Given the description of an element on the screen output the (x, y) to click on. 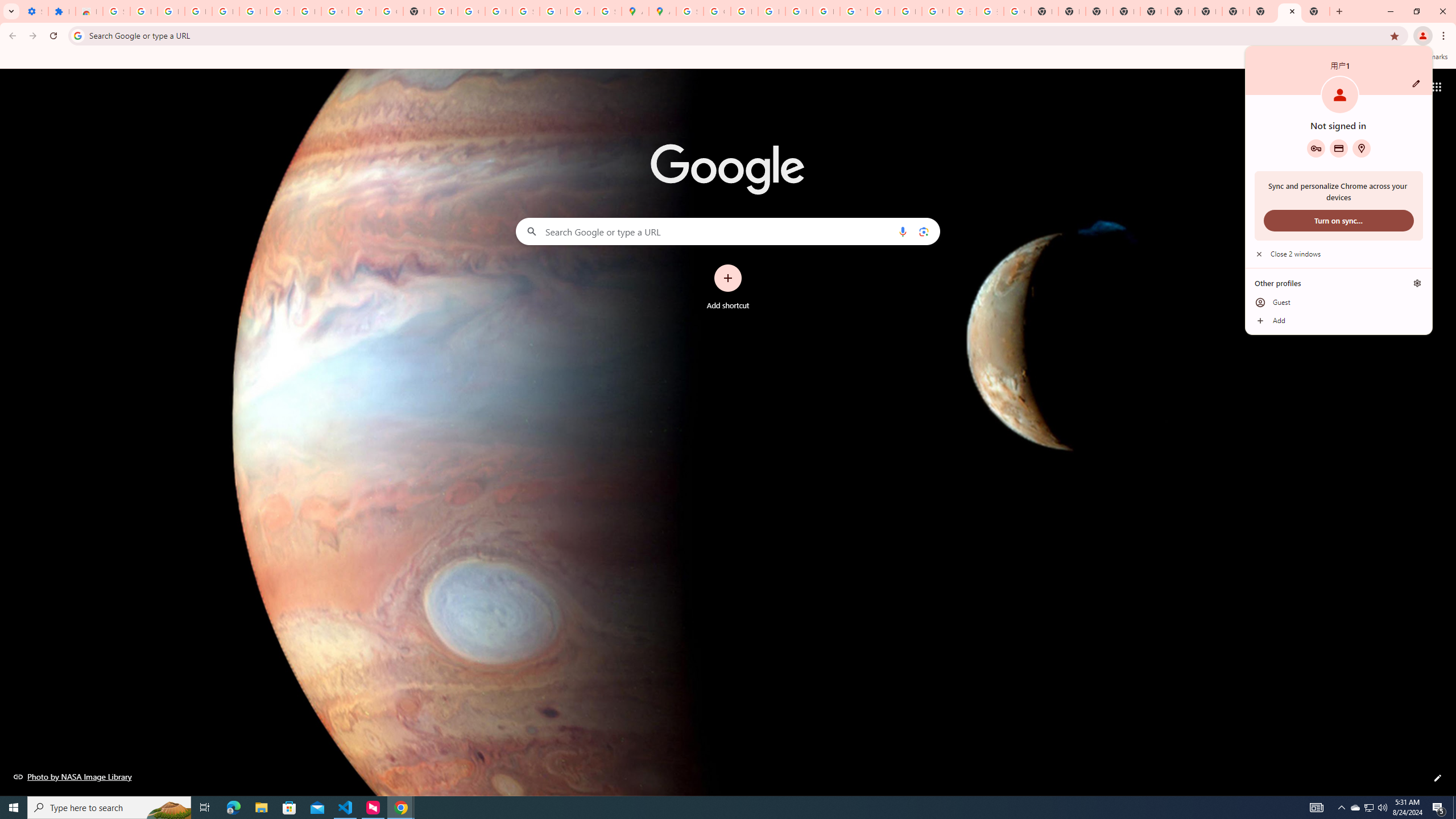
Customize this page (1437, 778)
Start (13, 807)
New Tab (1338, 11)
Type here to search (108, 807)
Search by voice (902, 230)
Customize profile (1415, 83)
Google Password Manager (1315, 148)
Back (10, 35)
